Given the description of an element on the screen output the (x, y) to click on. 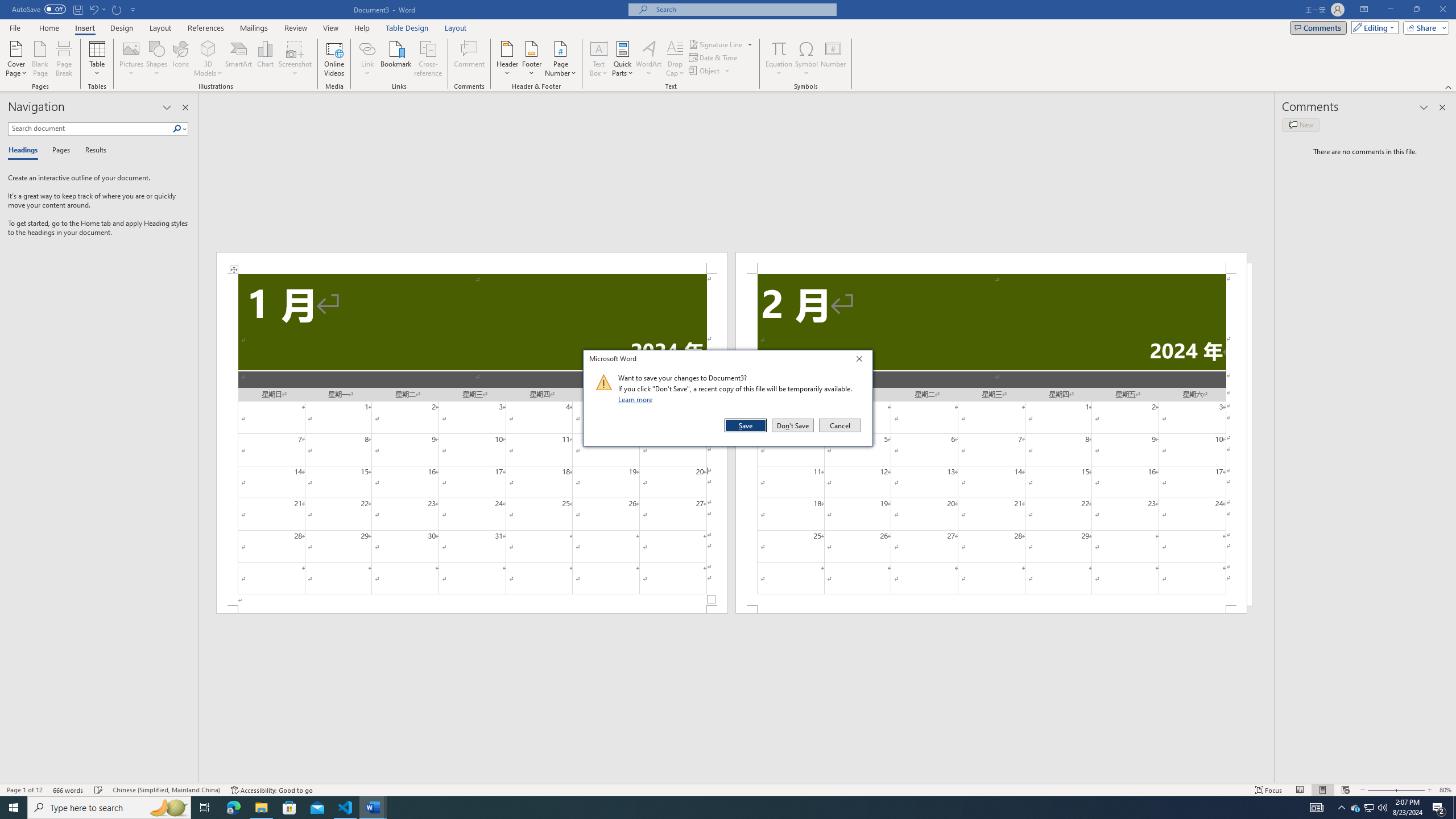
Word Count 666 words (68, 790)
